Given the description of an element on the screen output the (x, y) to click on. 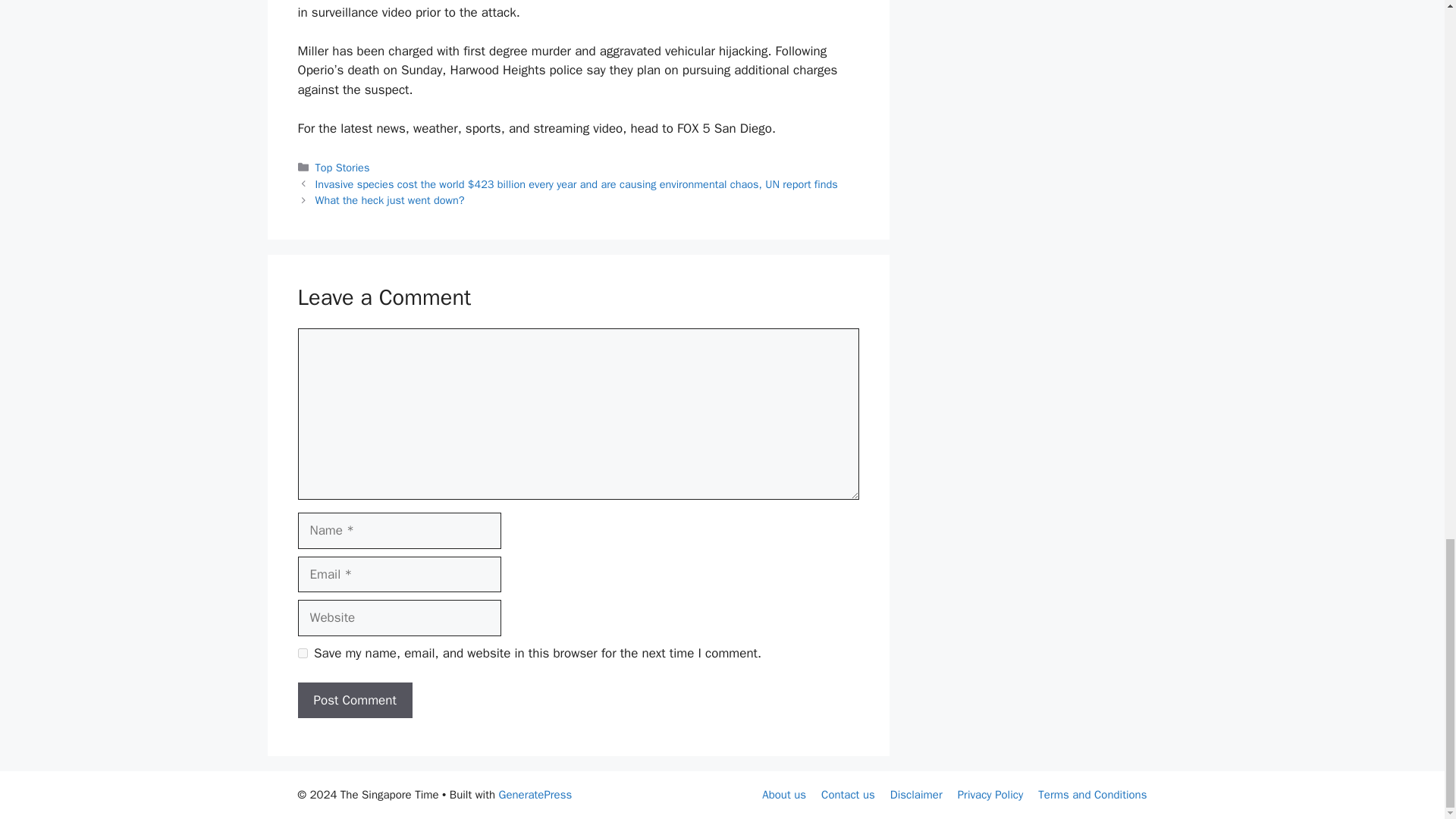
Privacy Policy (990, 794)
yes (302, 653)
Top Stories (342, 167)
Contact us (848, 794)
Post Comment (354, 700)
Terms and Conditions (1092, 794)
Post Comment (354, 700)
What the heck just went down? (389, 200)
GeneratePress (535, 794)
Disclaimer (915, 794)
